Given the description of an element on the screen output the (x, y) to click on. 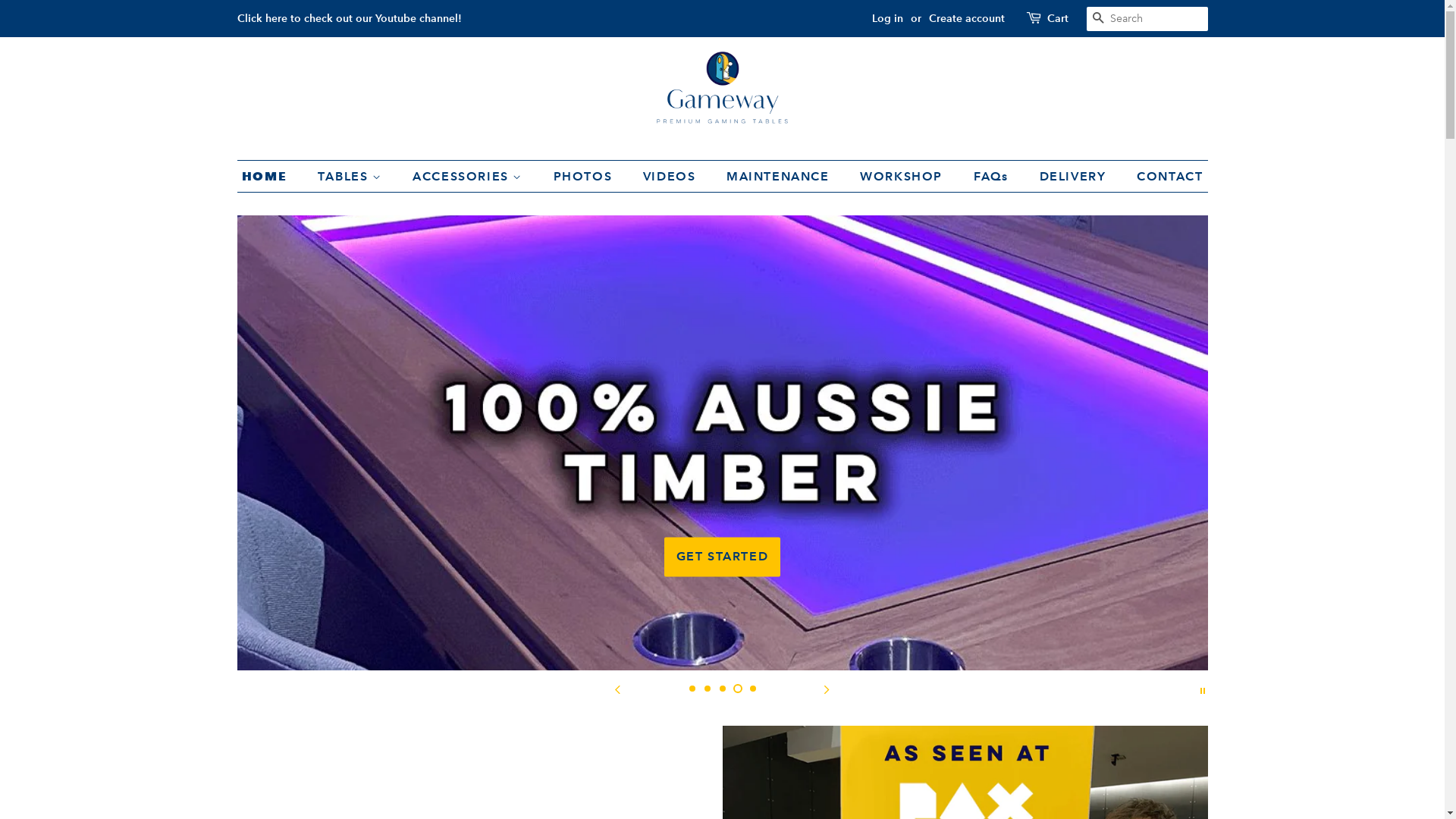
Create account Element type: text (966, 18)
TABLES Element type: text (351, 175)
Click here to check out our Youtube channel! Element type: text (348, 18)
2 Element type: text (706, 688)
CONTACT Element type: text (1163, 175)
FAQs Element type: text (992, 175)
Search Element type: text (1097, 18)
WORKSHOP Element type: text (902, 175)
Cart Element type: text (1056, 18)
VIDEOS Element type: text (671, 175)
5 Element type: text (751, 688)
Log in Element type: text (887, 18)
HOME Element type: text (271, 175)
MAINTENANCE Element type: text (779, 175)
3 Element type: text (721, 688)
4 Element type: text (736, 688)
DELIVERY Element type: text (1074, 175)
1 Element type: text (691, 688)
ACCESSORIES Element type: text (469, 175)
GET STARTED Element type: text (722, 556)
PHOTOS Element type: text (584, 175)
